Given the description of an element on the screen output the (x, y) to click on. 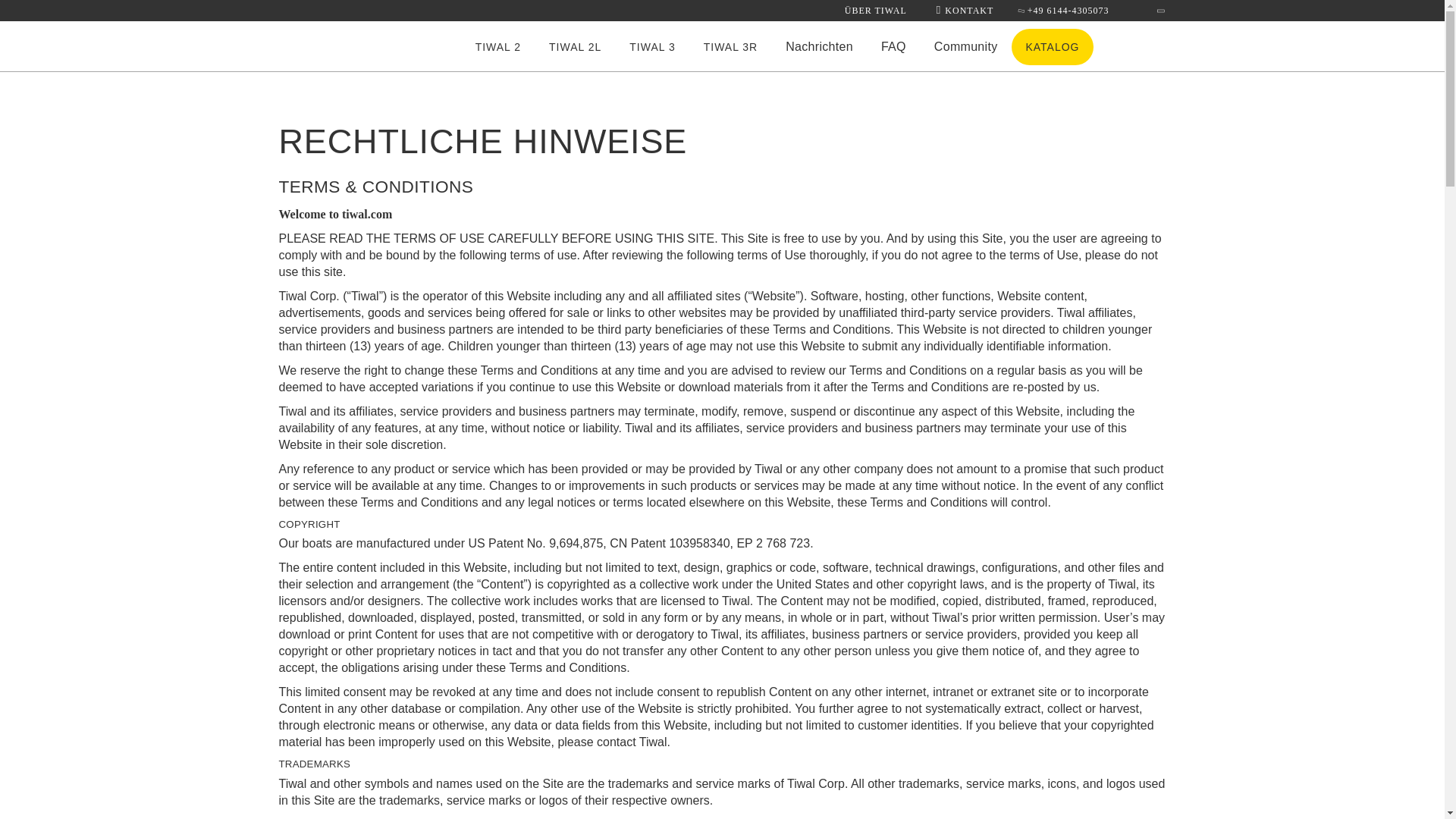
Community (965, 47)
Nachrichten (818, 47)
FAQ (893, 47)
Bestellung (1146, 45)
KONTAKT (965, 9)
TIWAL 2 (497, 47)
TIWAL 3 (651, 47)
TIWAL 3R (730, 47)
TIWAL 2L (574, 47)
